Given the description of an element on the screen output the (x, y) to click on. 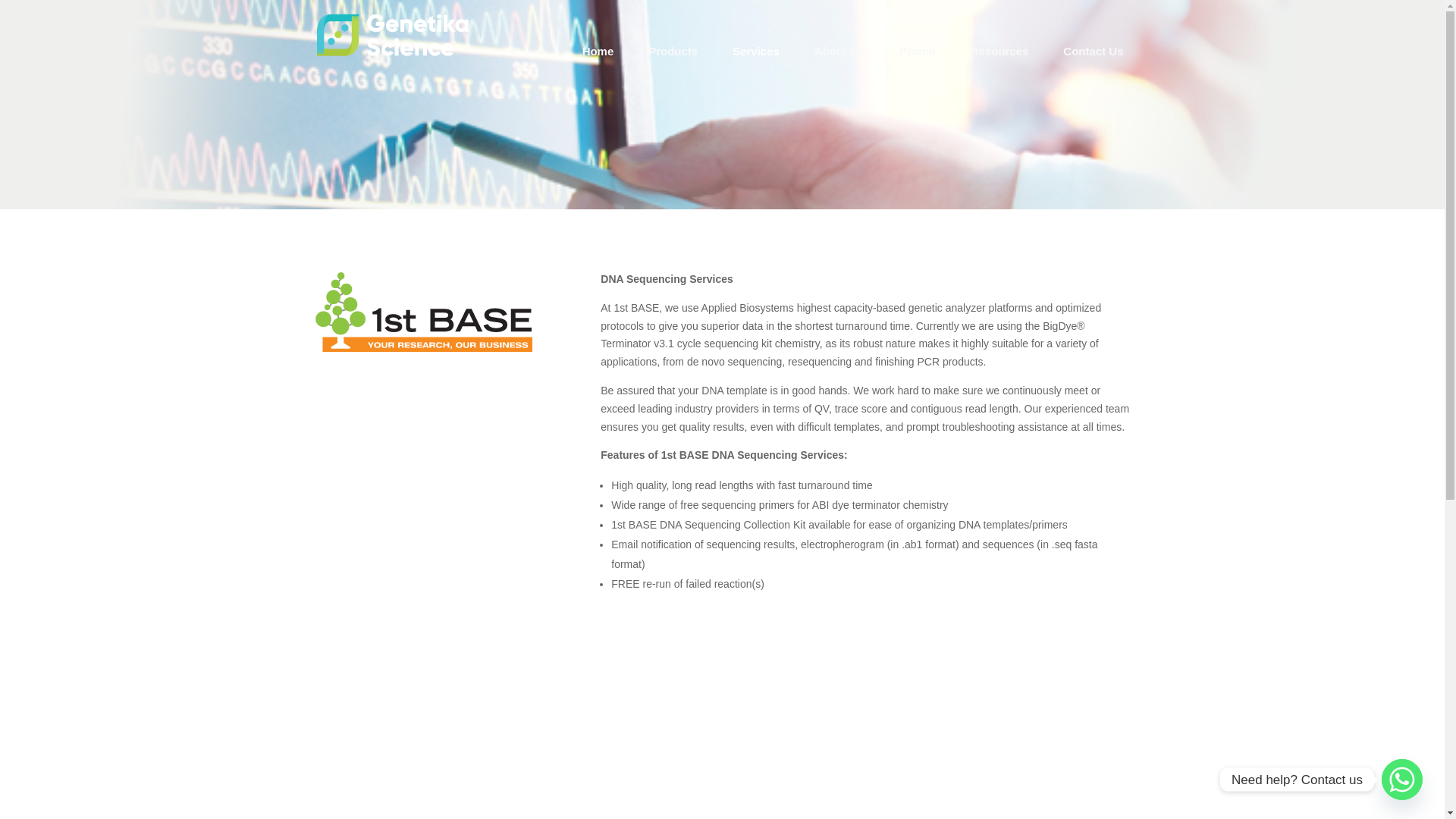
Guide to Successful Sequencing (865, 723)
Home (598, 51)
Services (755, 51)
Products (673, 51)
